Given the description of an element on the screen output the (x, y) to click on. 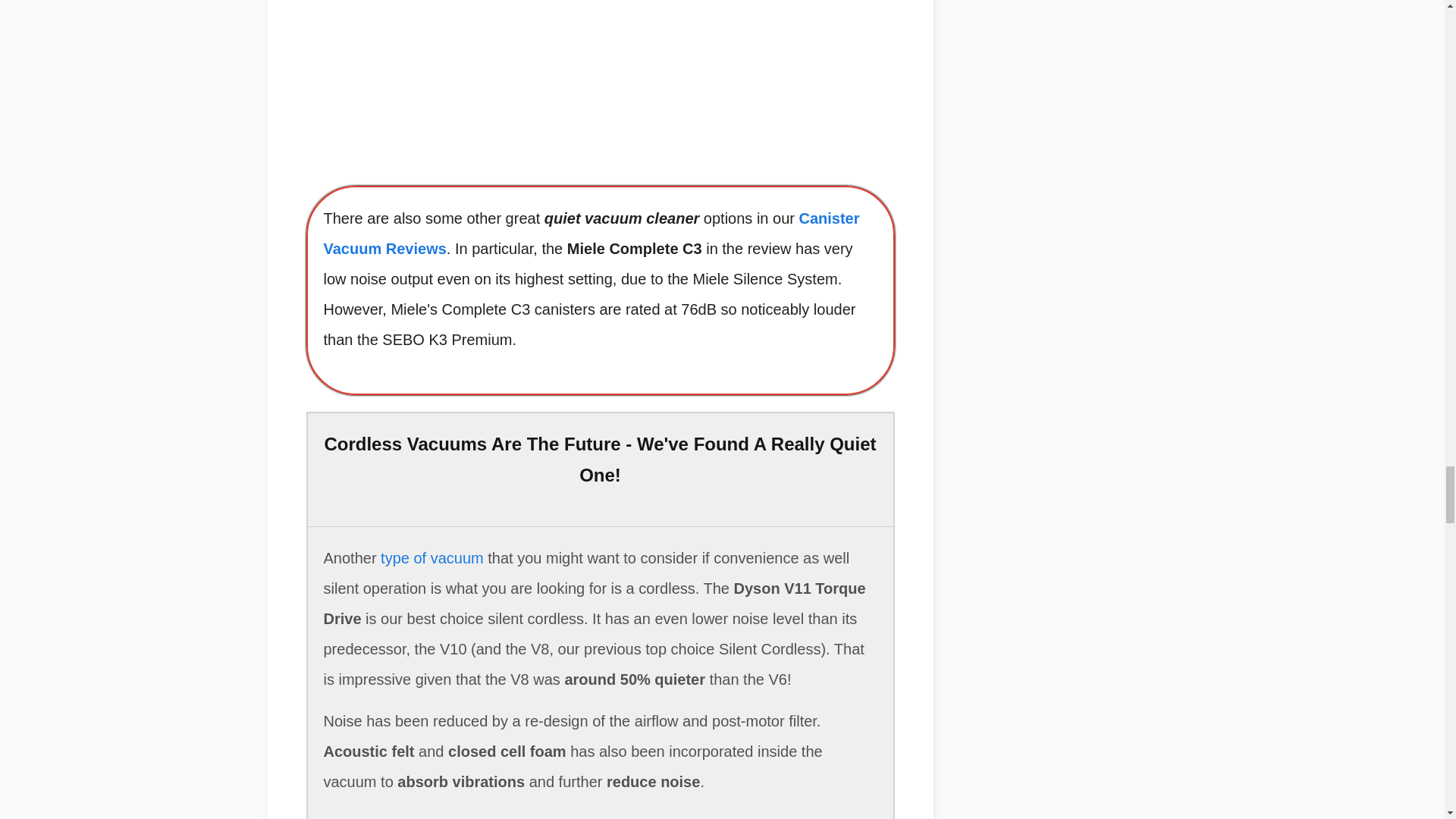
Canister Vacuum Reviews (591, 233)
